Given the description of an element on the screen output the (x, y) to click on. 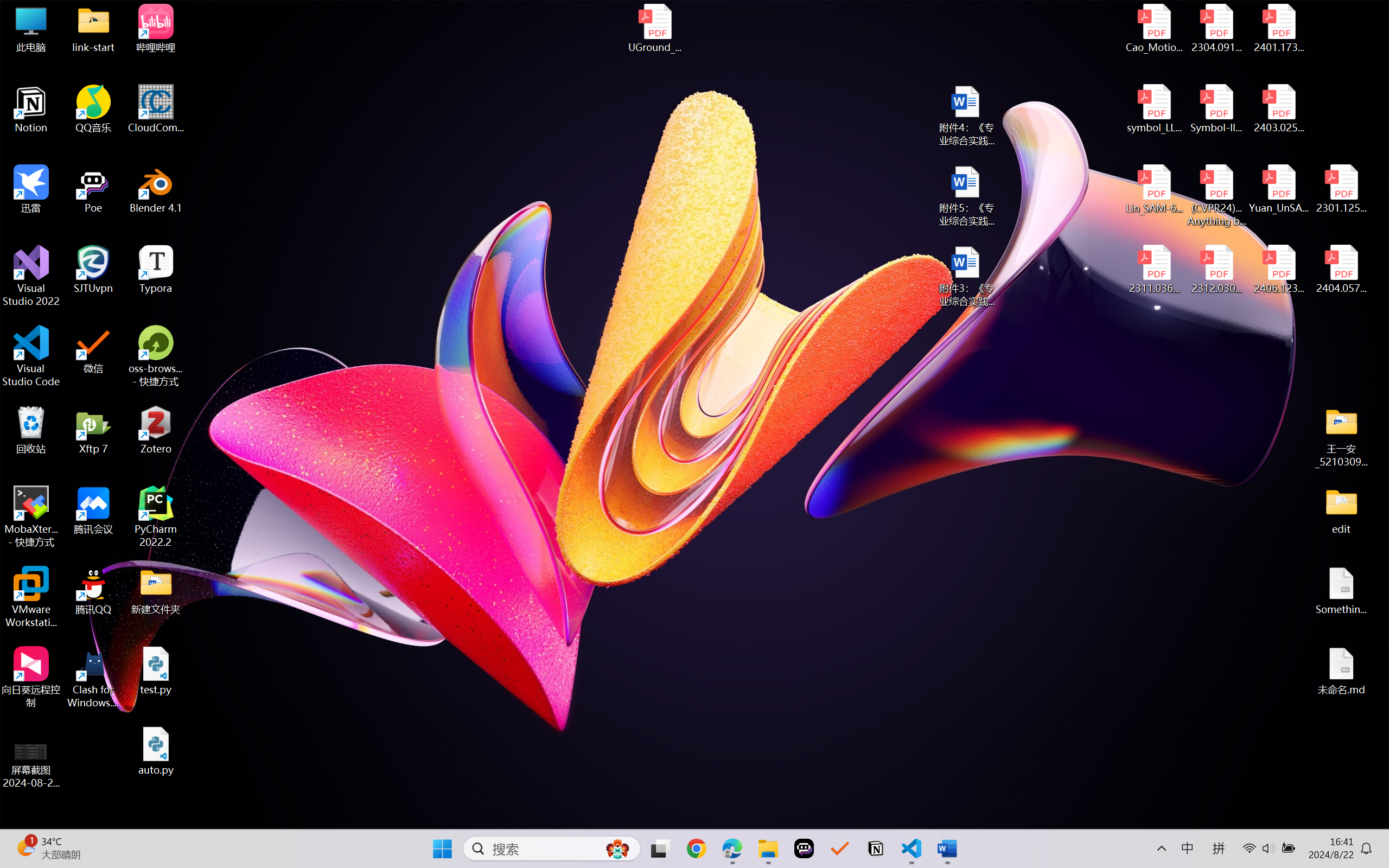
Blender 4.1 (156, 189)
2406.12373v2.pdf (1278, 269)
Visual Studio Code (31, 355)
(CVPR24)Matching Anything by Segmenting Anything.pdf (1216, 195)
